Given the description of an element on the screen output the (x, y) to click on. 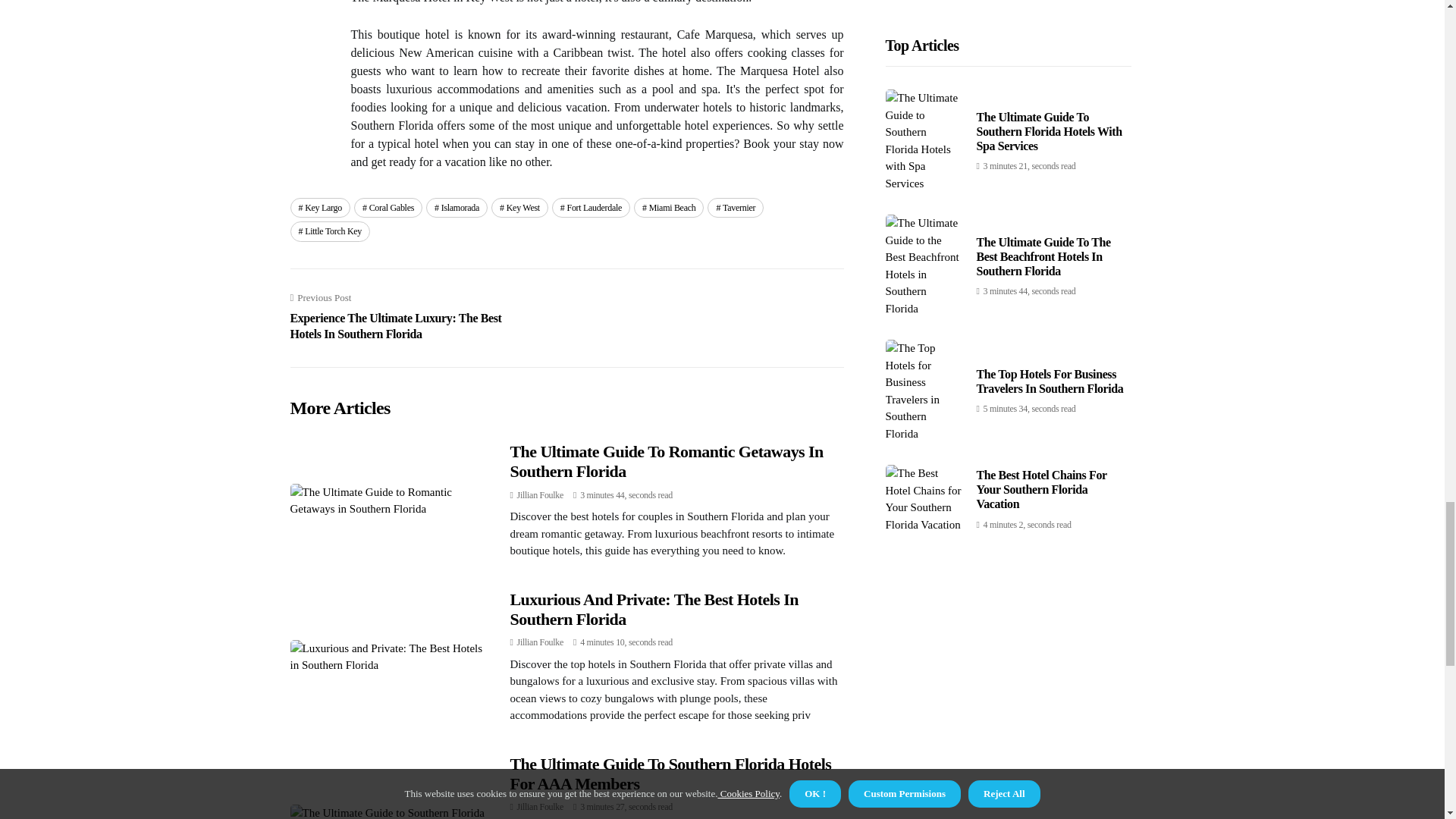
Key Largo (319, 207)
Key West (520, 207)
Posts by Jillian Foulke (539, 494)
Fort Lauderdale (590, 207)
Coral Gables (387, 207)
Posts by Jillian Foulke (539, 642)
Luxurious And Private: The Best Hotels In Southern Florida (653, 608)
Jillian Foulke (539, 494)
Tavernier (734, 207)
